Given the description of an element on the screen output the (x, y) to click on. 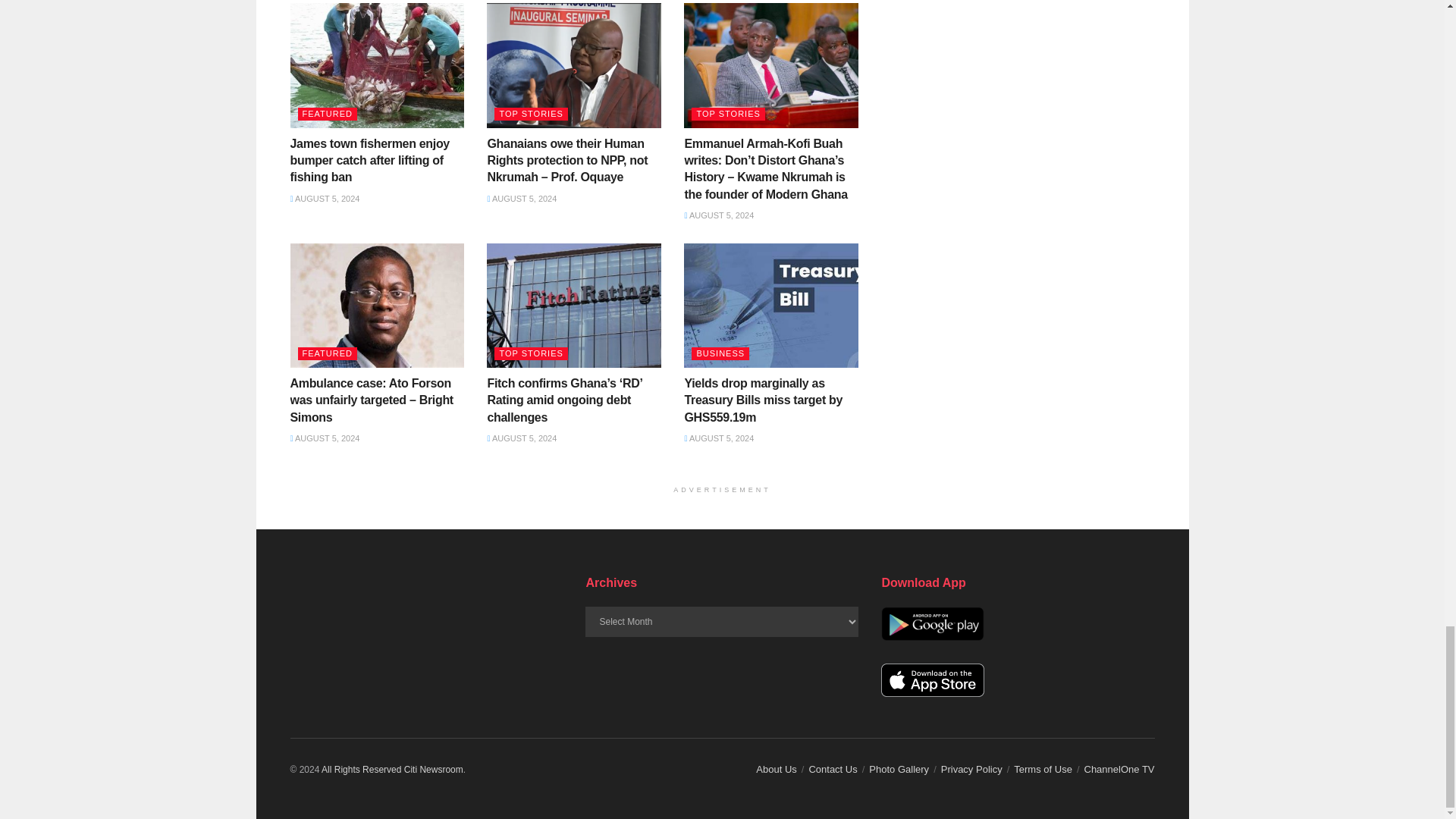
App Store (932, 680)
Google Play (932, 623)
Citi Newsroom (433, 769)
Citi Newsroom (361, 769)
